Given the description of an element on the screen output the (x, y) to click on. 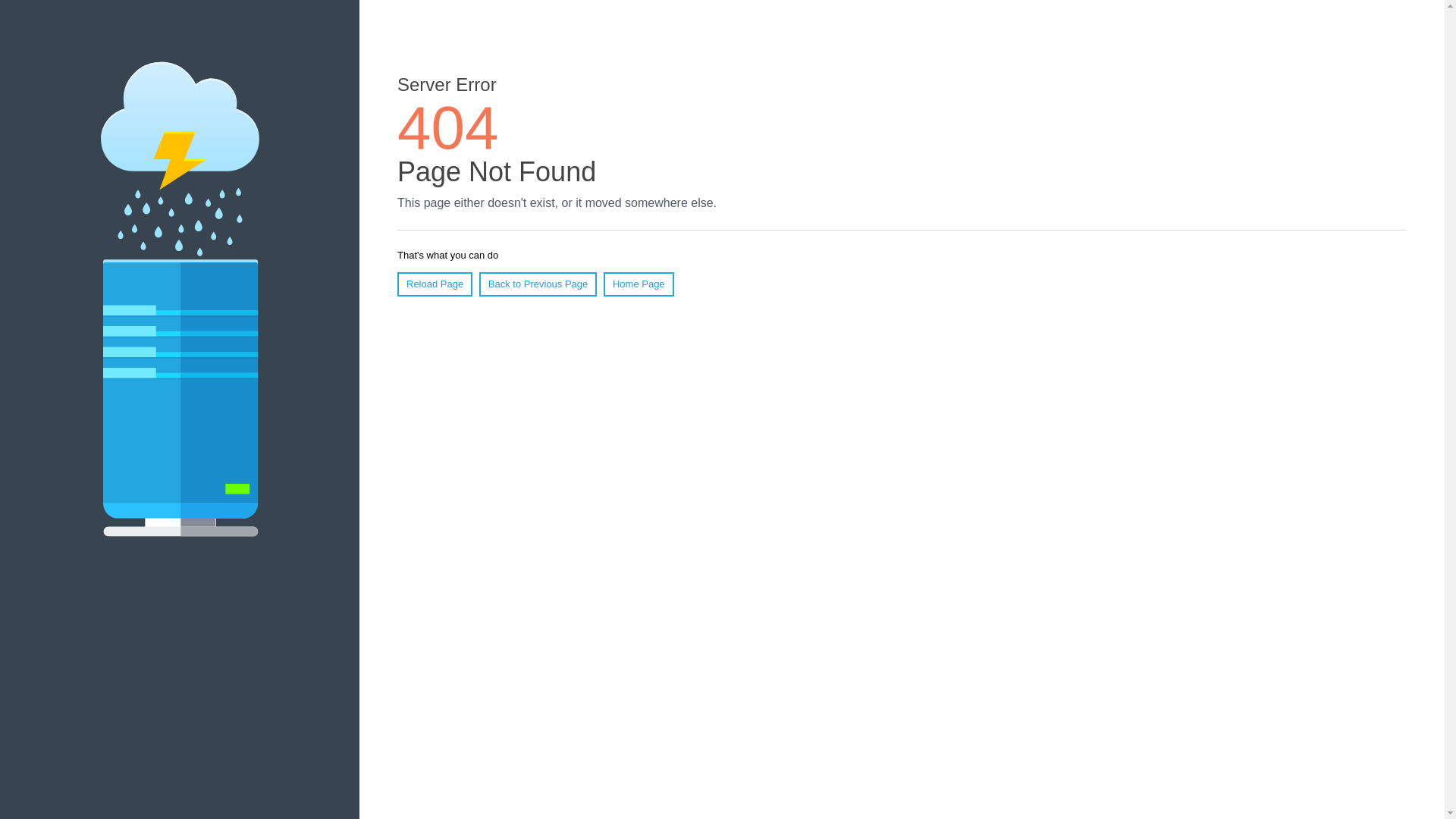
Home Page Element type: text (638, 284)
Reload Page Element type: text (434, 284)
Back to Previous Page Element type: text (538, 284)
